Given the description of an element on the screen output the (x, y) to click on. 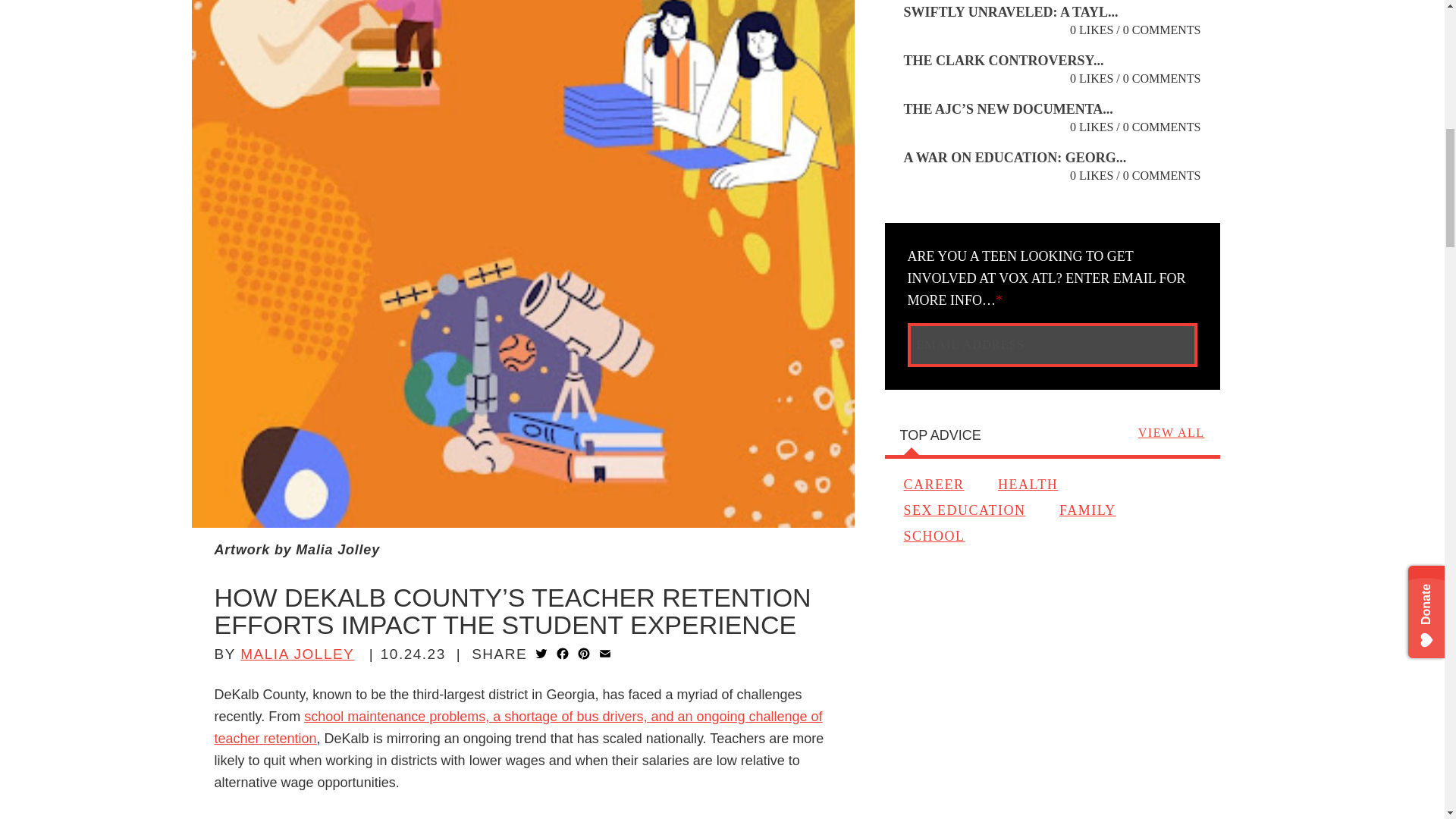
Twitter (541, 655)
Facebook (562, 655)
Posts by Malia Jolley (296, 653)
Submit (1167, 344)
Email (604, 655)
Pinterest (583, 655)
